Given the description of an element on the screen output the (x, y) to click on. 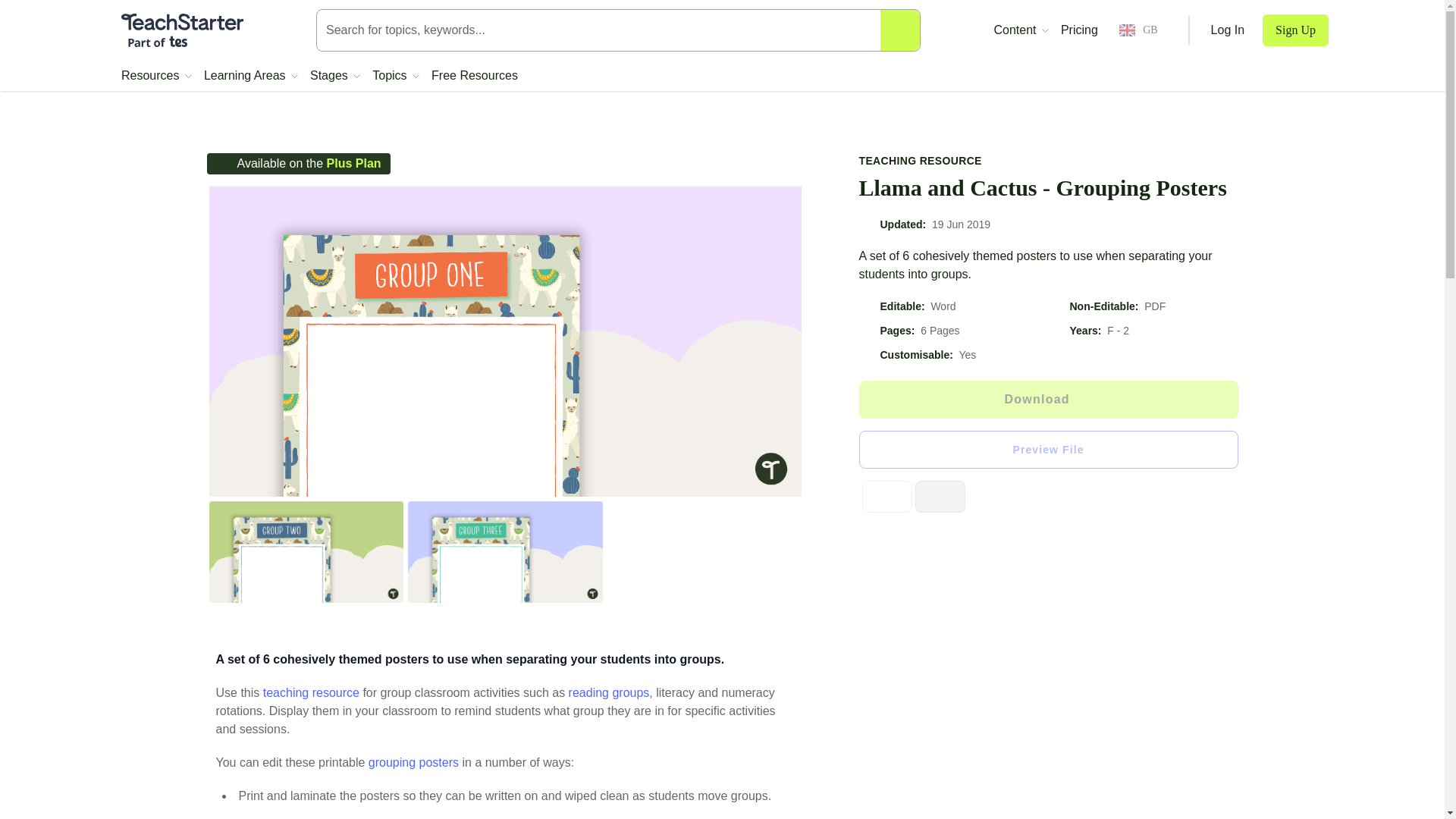
GB (1138, 30)
Teach Starter, part of Tes (181, 29)
Stages  (334, 75)
Sign Up (1294, 29)
Content  (1020, 30)
Resources (156, 75)
Learning Areas  (250, 75)
Create a Teach Starter account (1294, 29)
Log in to your account (1227, 30)
Pricing (1079, 30)
